Given the description of an element on the screen output the (x, y) to click on. 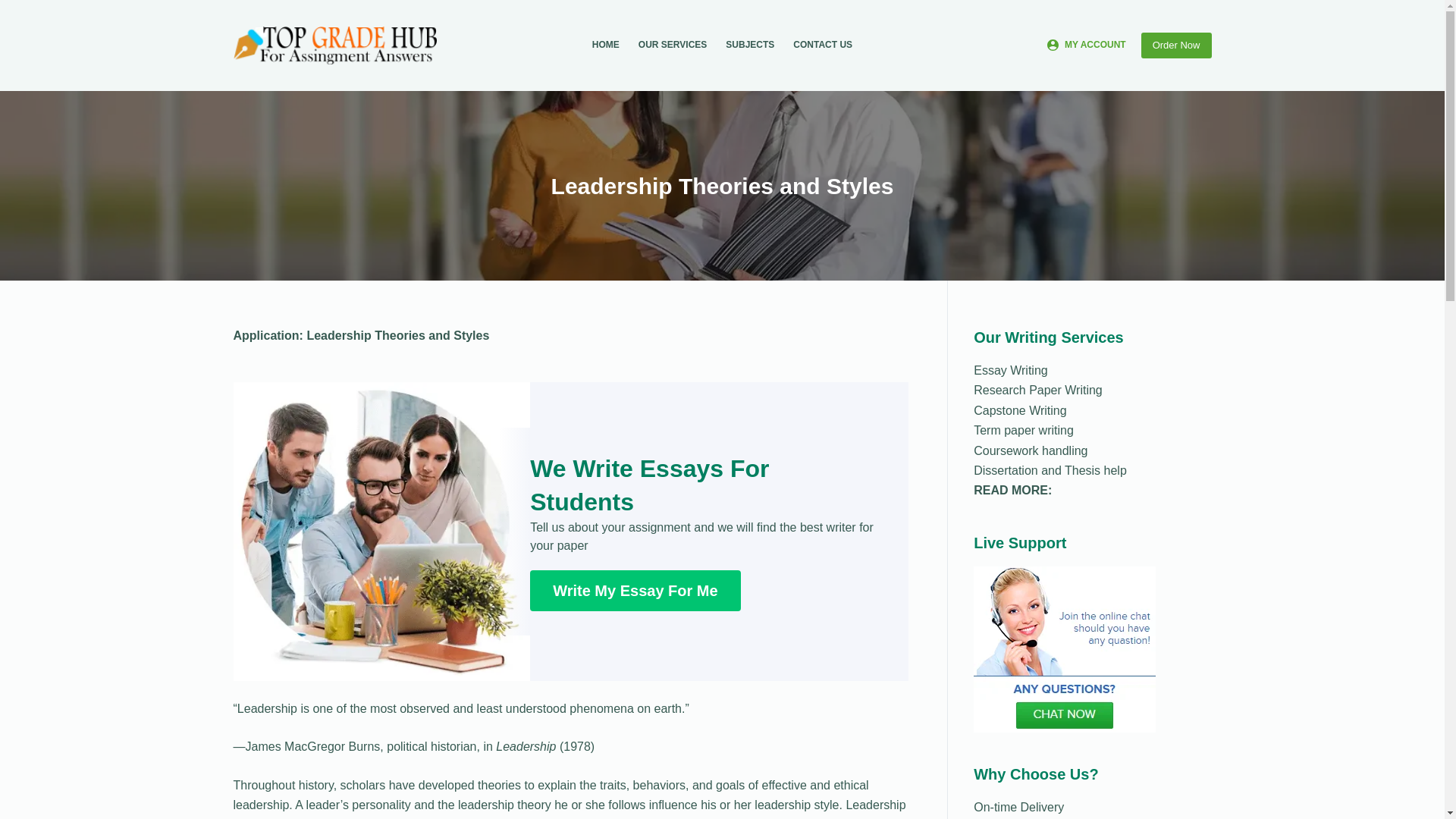
Order Now (1176, 45)
OUR SERVICES (672, 45)
READ MORE: (1012, 490)
Leadership Theories and Styles (722, 185)
MY ACCOUNT (1085, 45)
Skip to content (15, 7)
Write My Essay For Me (634, 590)
